Given the description of an element on the screen output the (x, y) to click on. 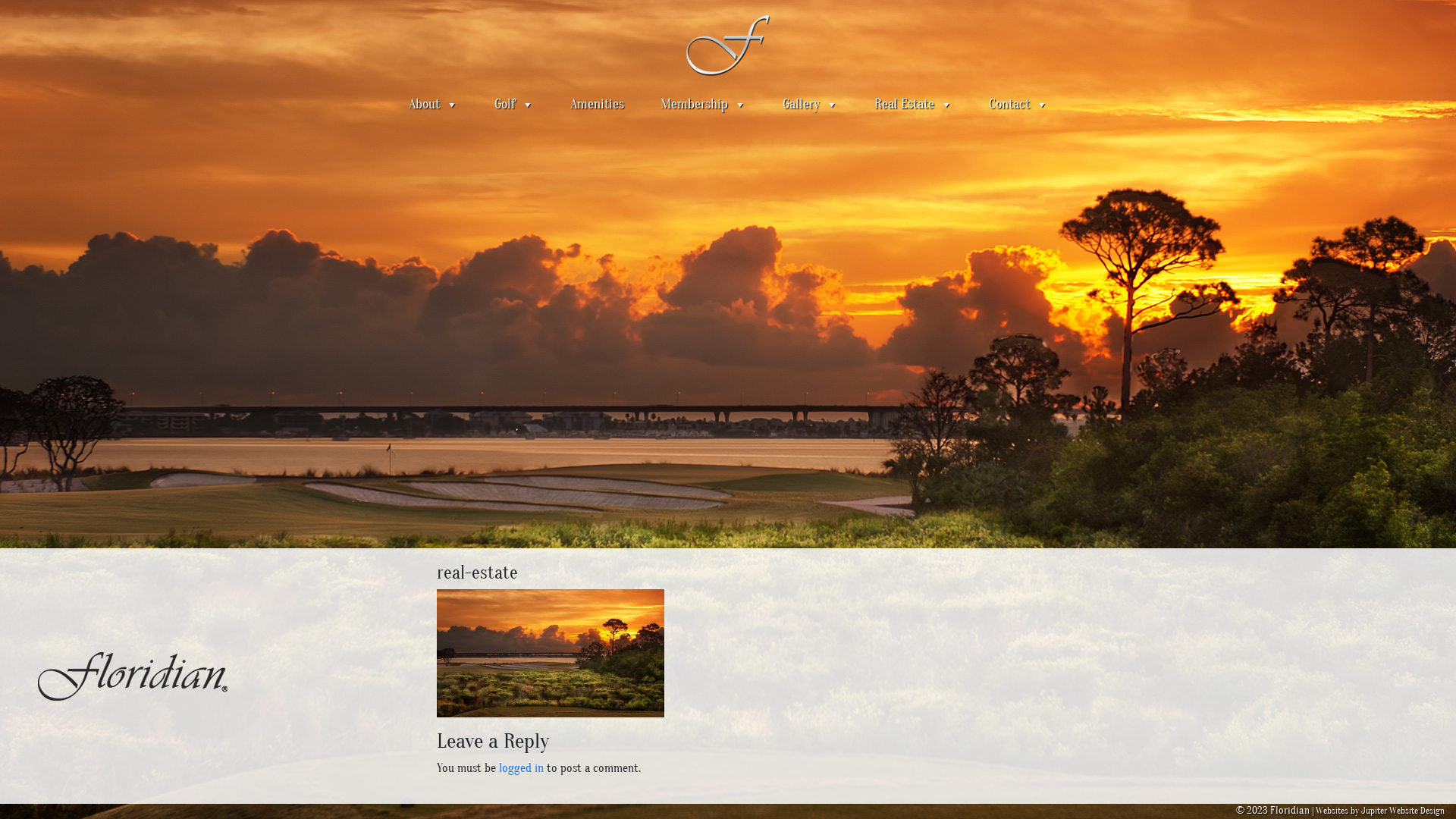
logged in Element type: text (520, 768)
Gallery Element type: text (810, 104)
Amenities Element type: text (597, 104)
About Element type: text (432, 104)
Floridian National Golf Club Element type: hover (727, 44)
Real Estate Element type: text (912, 104)
Websites by Jupiter Website Design Element type: text (1379, 810)
Contact Element type: text (1018, 104)
Membership Element type: text (702, 104)
Golf Element type: text (514, 104)
